Given the description of an element on the screen output the (x, y) to click on. 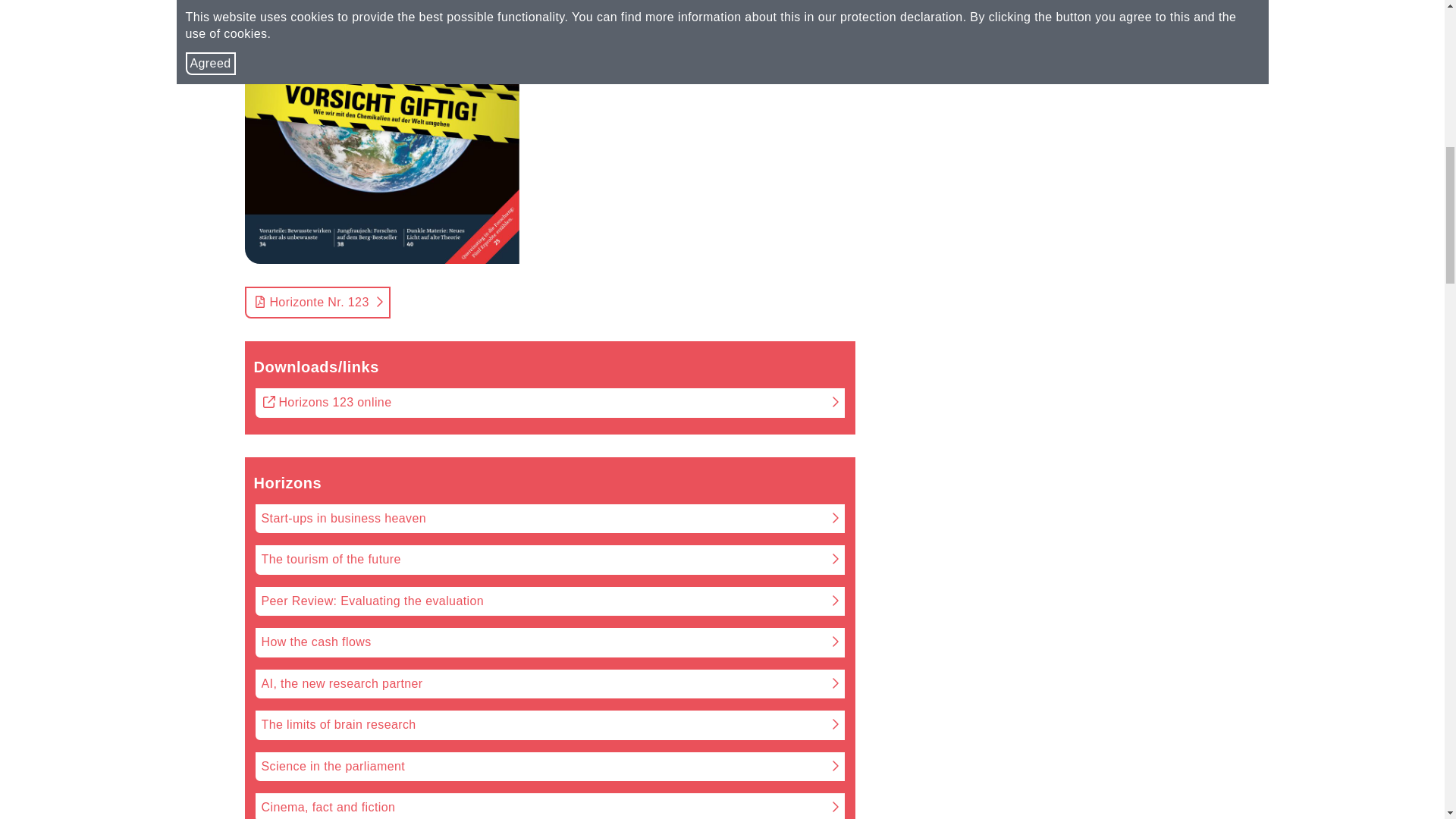
external link (268, 401)
Horizonte Nr. 123 (381, 131)
